Given the description of an element on the screen output the (x, y) to click on. 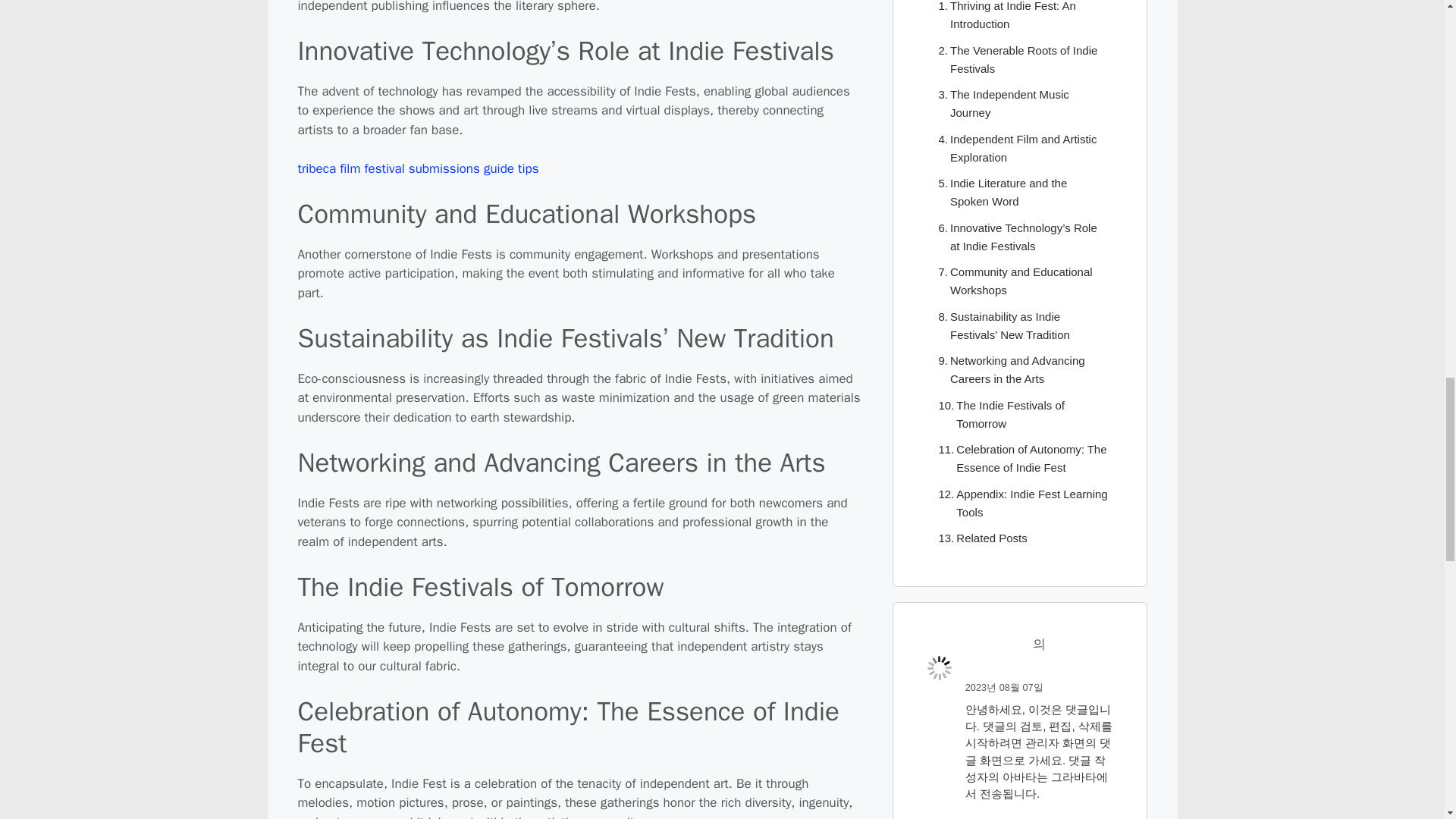
The Venerable Roots of Indie Festivals (1019, 58)
Thriving at Indie Fest: An Introduction (1019, 16)
tribeca film festival submissions guide tips (417, 168)
